Given the description of an element on the screen output the (x, y) to click on. 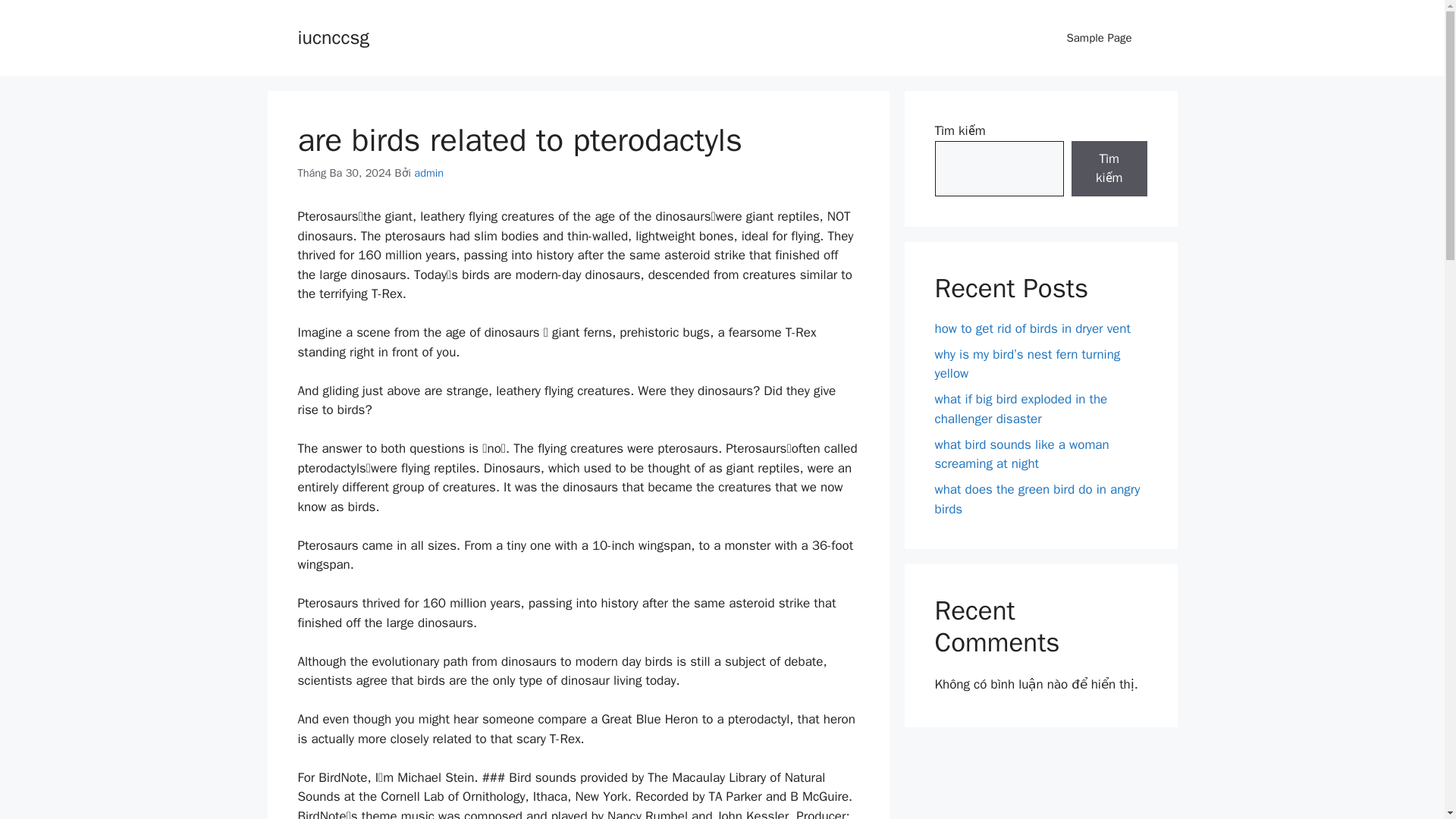
what bird sounds like a woman screaming at night (1021, 454)
what if big bird exploded in the challenger disaster (1020, 408)
Sample Page (1099, 37)
what does the green bird do in angry birds (1037, 498)
admin (428, 172)
how to get rid of birds in dryer vent (1031, 327)
iucnccsg (332, 37)
